Given the description of an element on the screen output the (x, y) to click on. 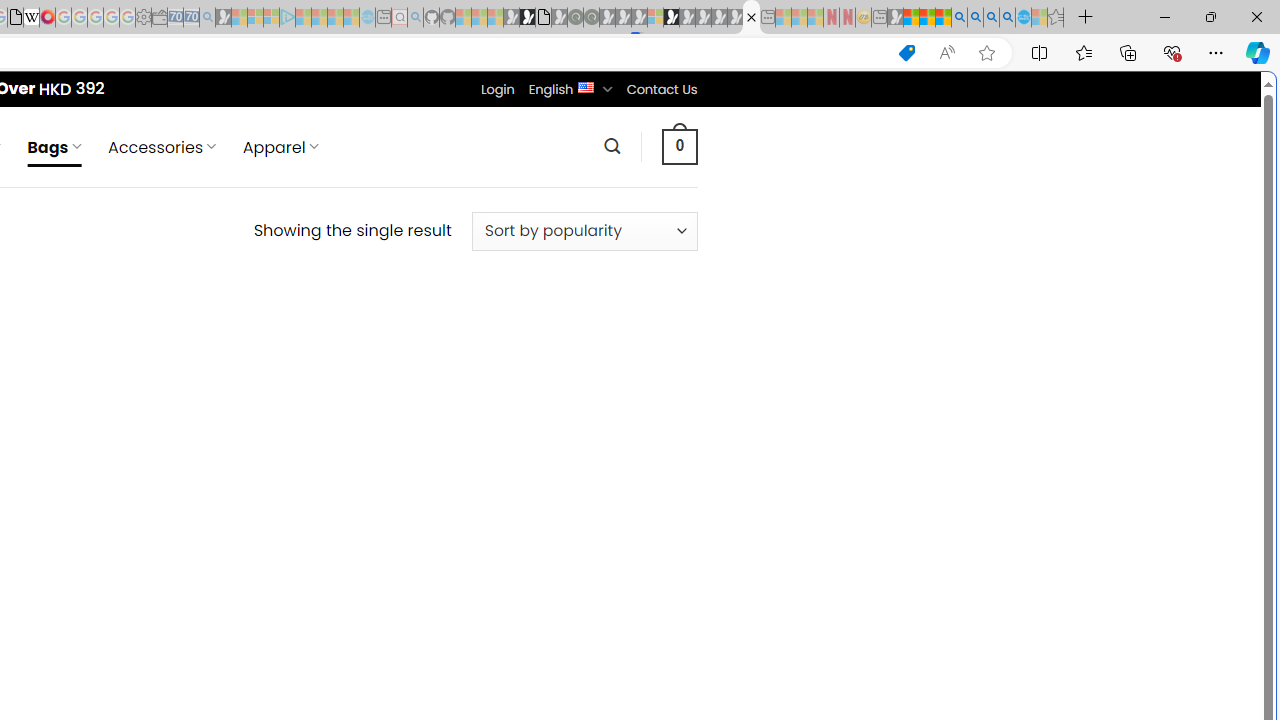
English (586, 86)
  0   (679, 146)
Search or enter web address (343, 191)
Shop order (584, 231)
Close split screen (844, 102)
